Given the description of an element on the screen output the (x, y) to click on. 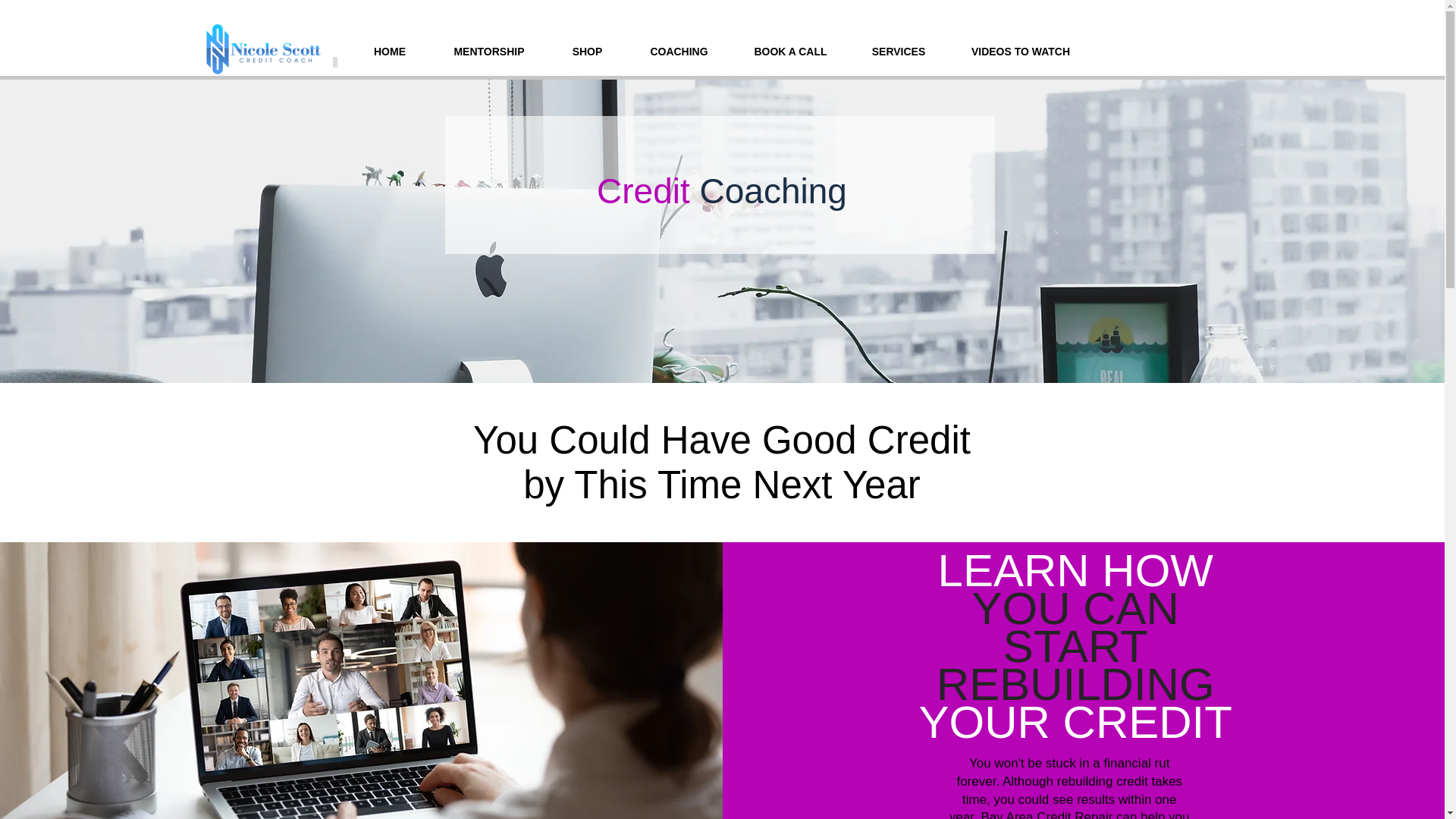
COACHING (678, 51)
HOME (389, 51)
SHOP (587, 51)
BOOK A CALL (790, 51)
SERVICES (897, 51)
MENTORSHIP (489, 51)
VIDEOS TO WATCH (1020, 51)
